Given the description of an element on the screen output the (x, y) to click on. 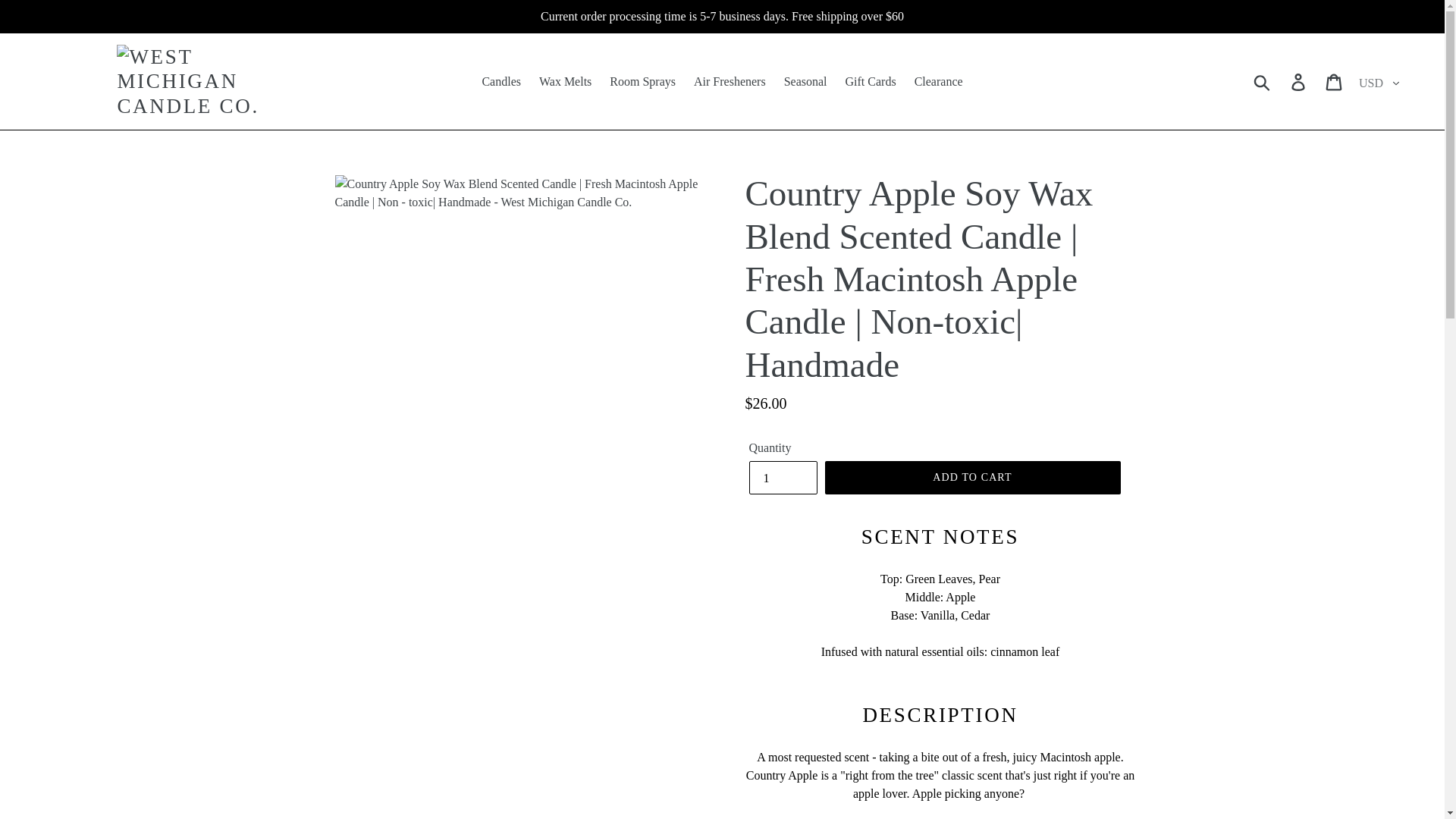
Clearance (939, 81)
Candles (501, 81)
ADD TO CART (973, 477)
Seasonal (805, 81)
Room Sprays (642, 81)
Log in (1299, 81)
Wax Melts (564, 81)
Cart (1334, 81)
1 (782, 477)
Gift Cards (871, 81)
Air Fresheners (729, 81)
Submit (1262, 81)
